Given the description of an element on the screen output the (x, y) to click on. 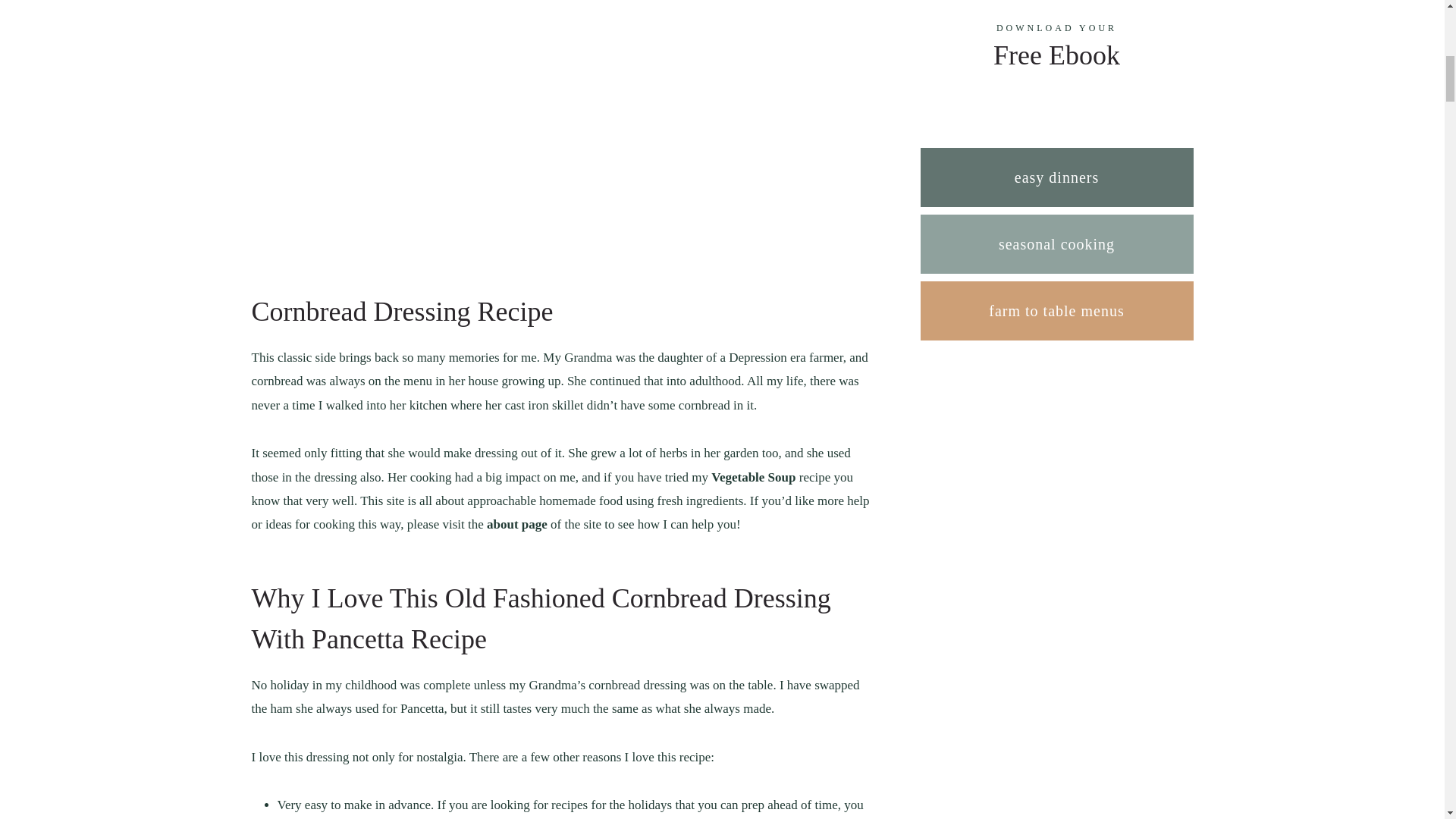
about page (516, 523)
Vegetable Soup (752, 477)
